Given the description of an element on the screen output the (x, y) to click on. 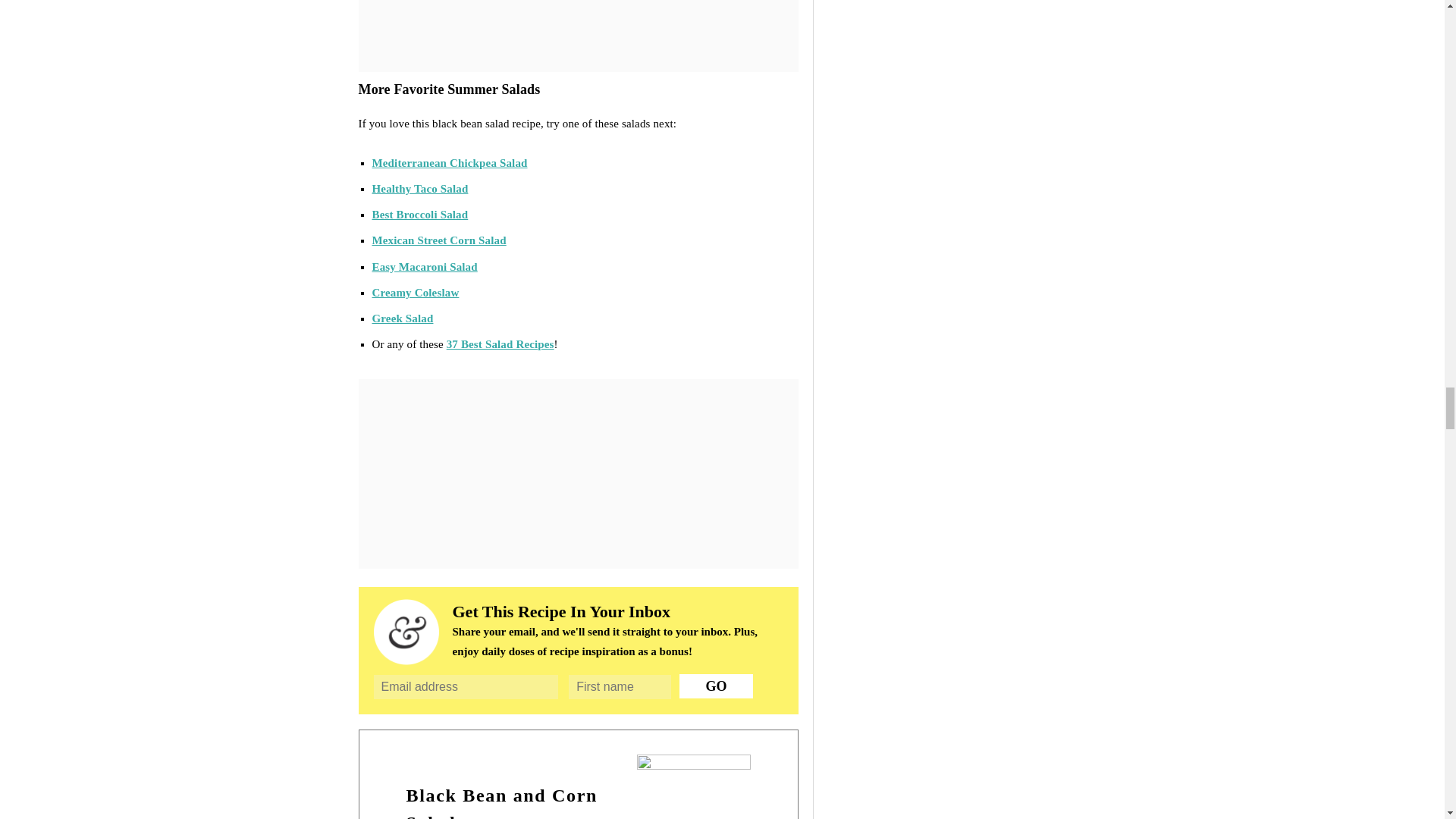
Creamy Coleslaw (414, 292)
Mexican Street Corn Salad (438, 240)
Best Broccoli Salad (419, 214)
Easy Macaroni Salad (424, 266)
Mediterranean Chickpea Salad (449, 162)
Healthy Taco Salad (419, 188)
GO (715, 686)
GO (715, 686)
Greek Salad (401, 318)
37 Best Salad Recipes (500, 344)
